Given the description of an element on the screen output the (x, y) to click on. 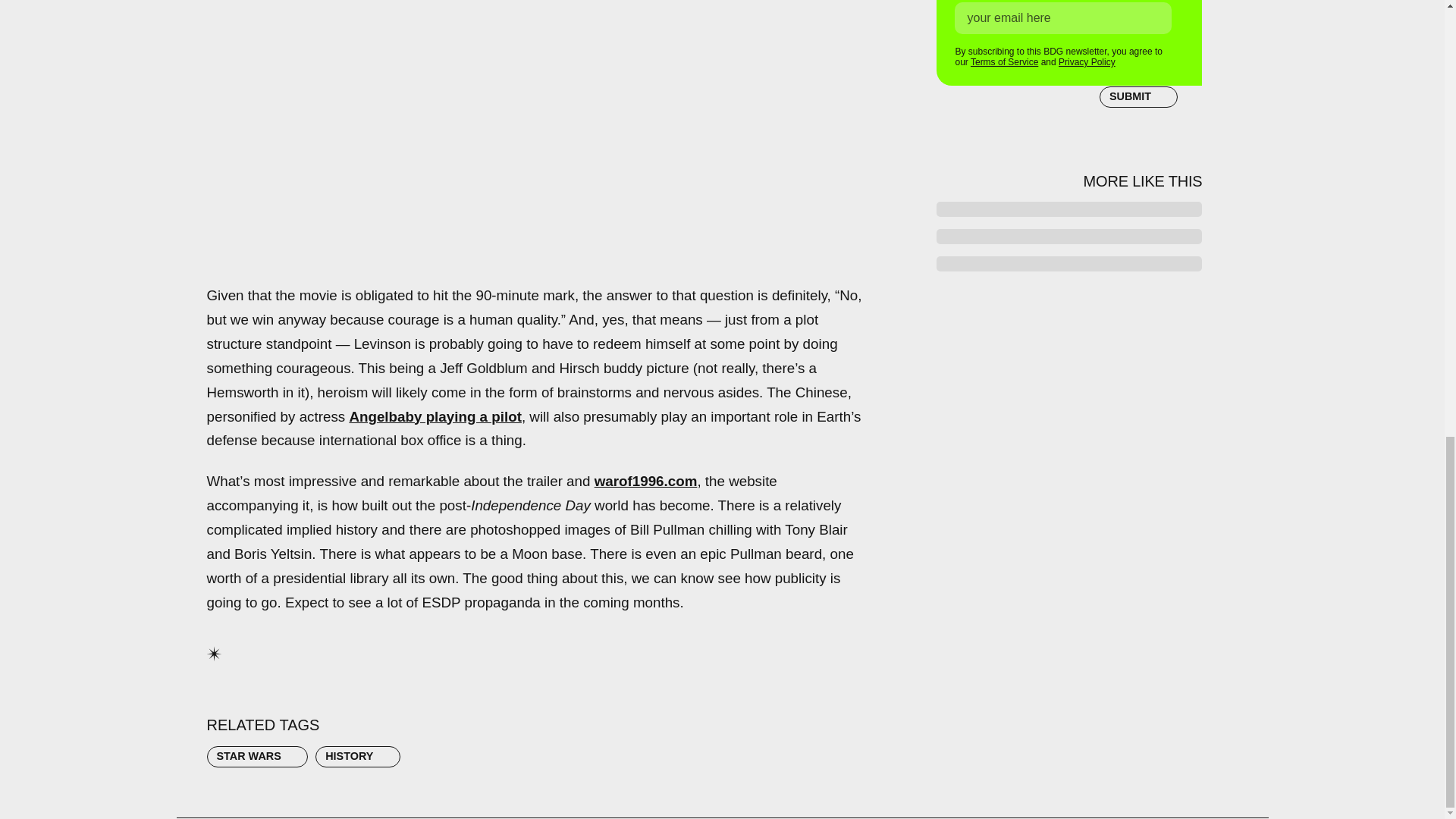
STAR WARS (256, 756)
Terms of Service (1004, 60)
HISTORY (357, 756)
warof1996.com (645, 480)
SUBMIT (1138, 94)
Privacy Policy (1086, 61)
Angelbaby playing a pilot (435, 416)
